Given the description of an element on the screen output the (x, y) to click on. 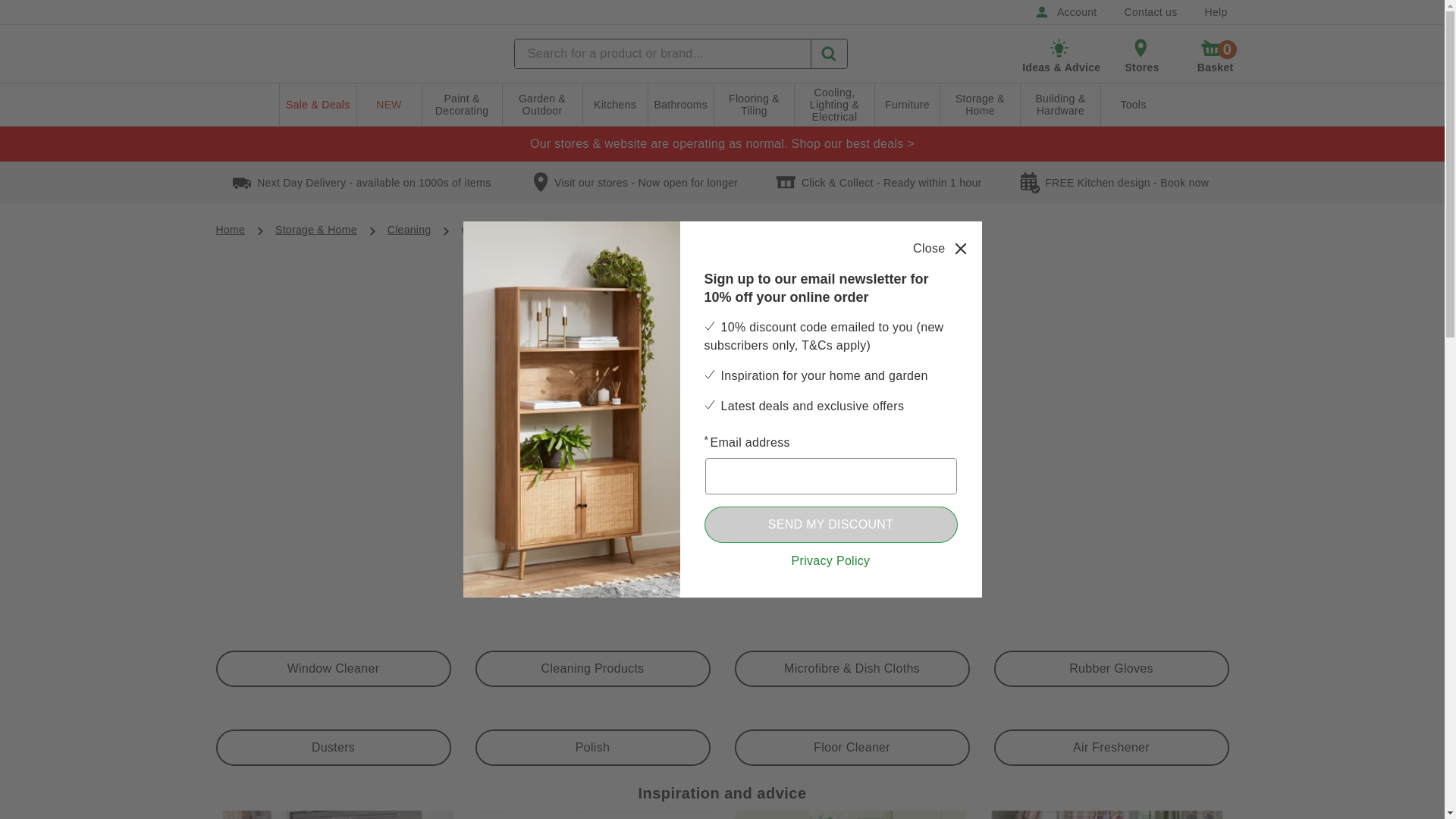
Help (1215, 12)
Contact us (1150, 12)
Search for a product or brand... (1212, 54)
Skip to main content (662, 53)
Account (57, 9)
Stores (1064, 12)
